Given the description of an element on the screen output the (x, y) to click on. 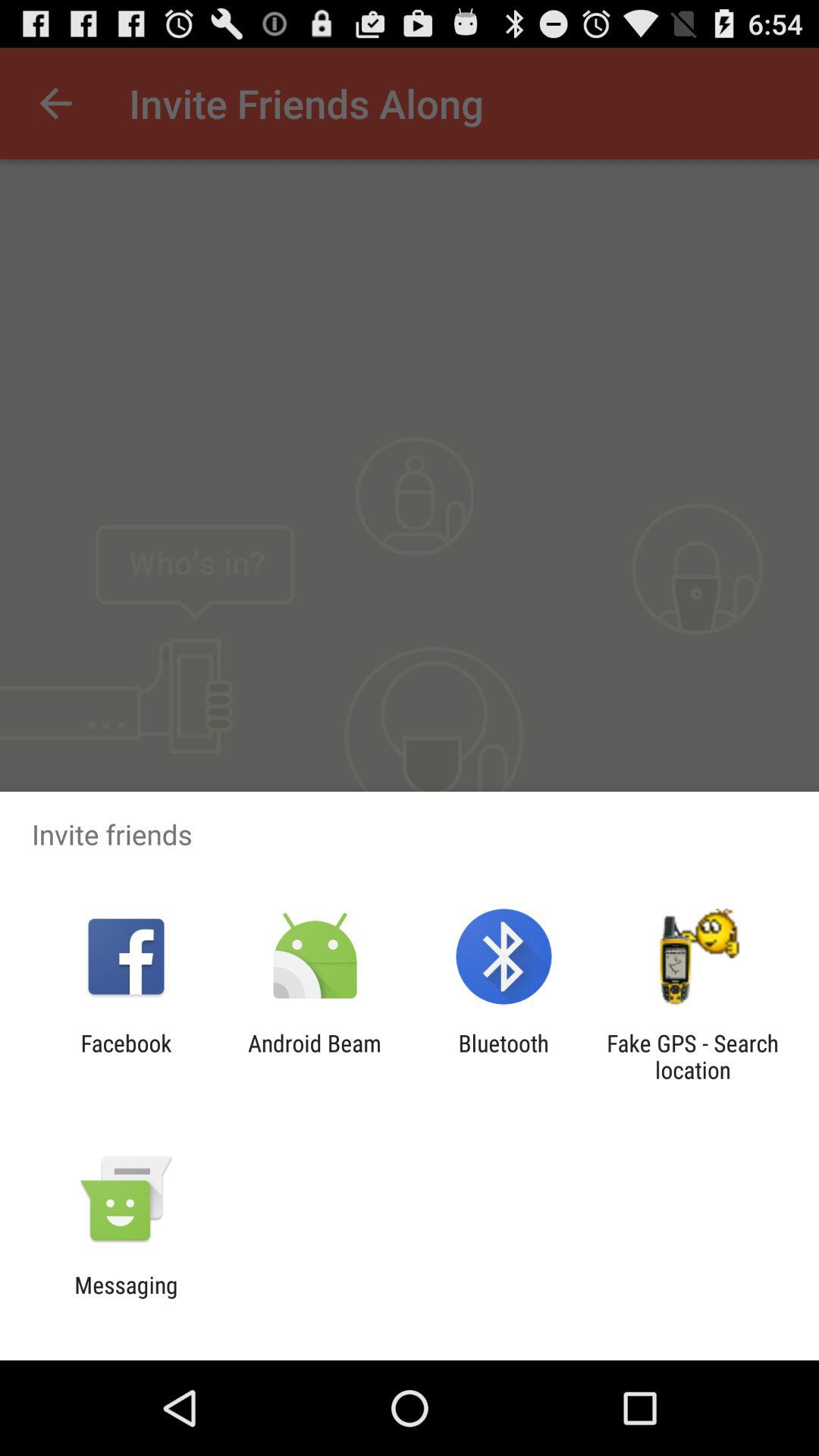
select item at the bottom right corner (692, 1056)
